Given the description of an element on the screen output the (x, y) to click on. 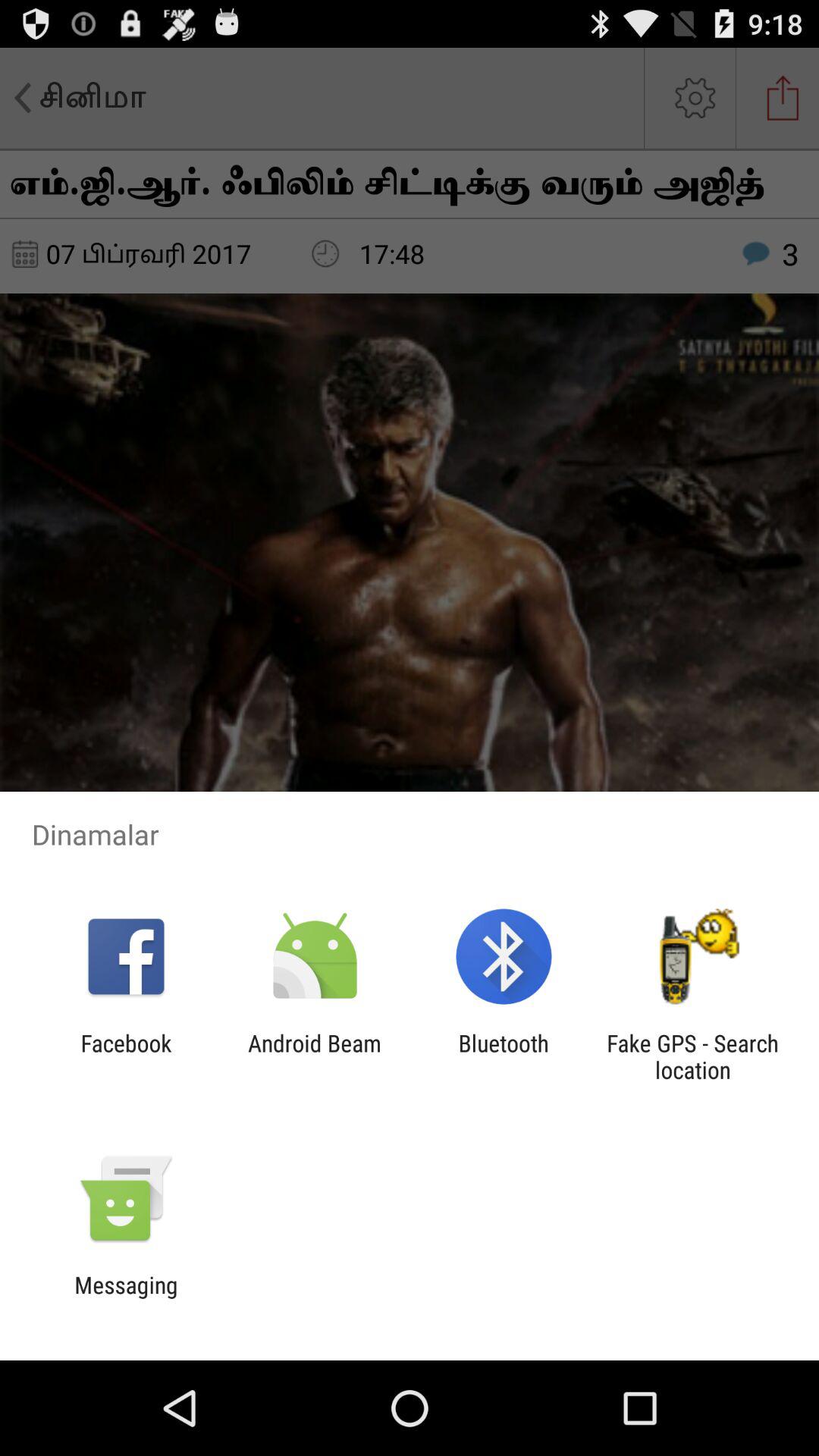
click fake gps search item (692, 1056)
